Given the description of an element on the screen output the (x, y) to click on. 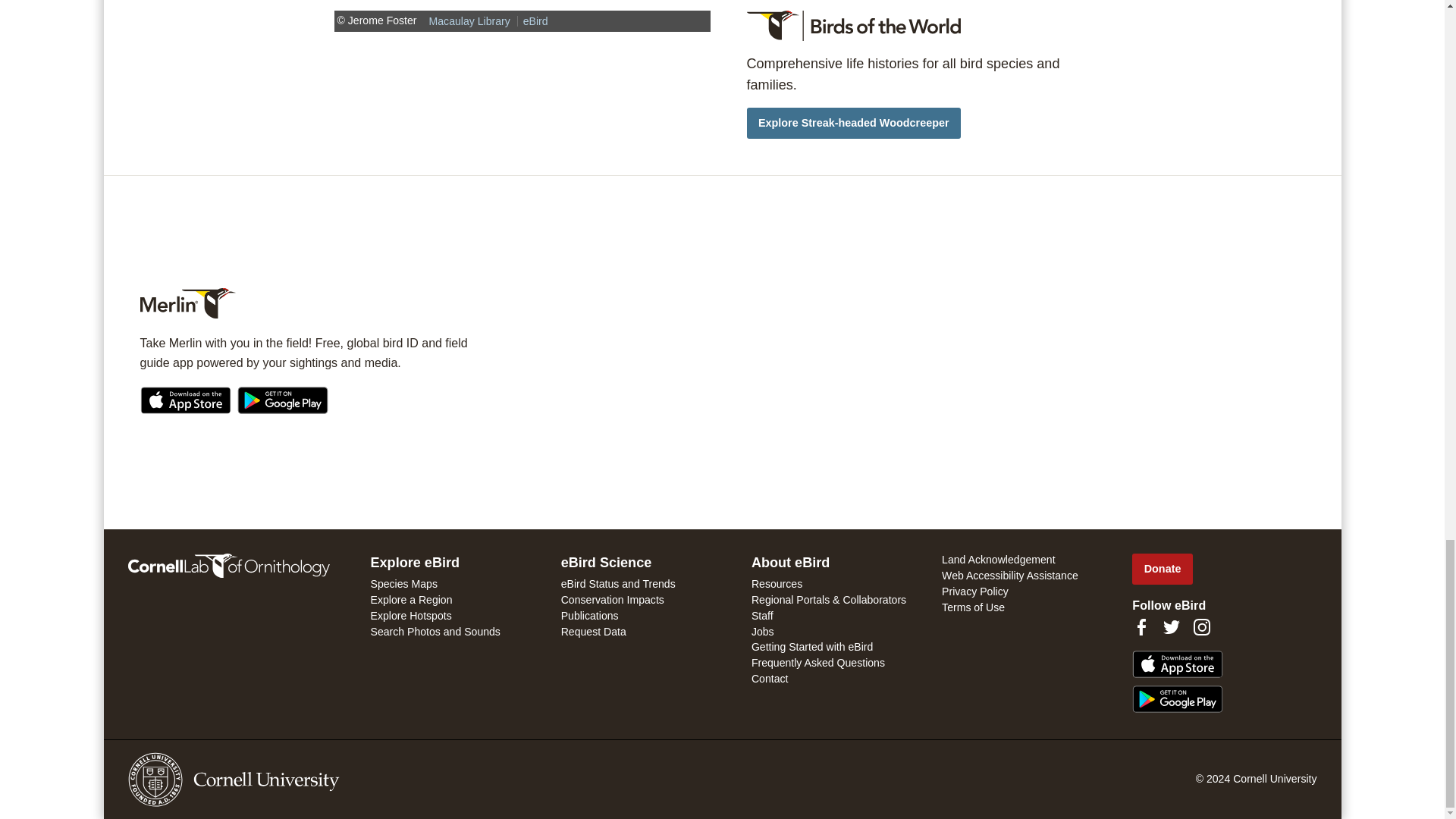
Follow us on Instagram (1201, 627)
Find us on Facebook (1141, 627)
Follow us on Twitter (1170, 627)
